Given the description of an element on the screen output the (x, y) to click on. 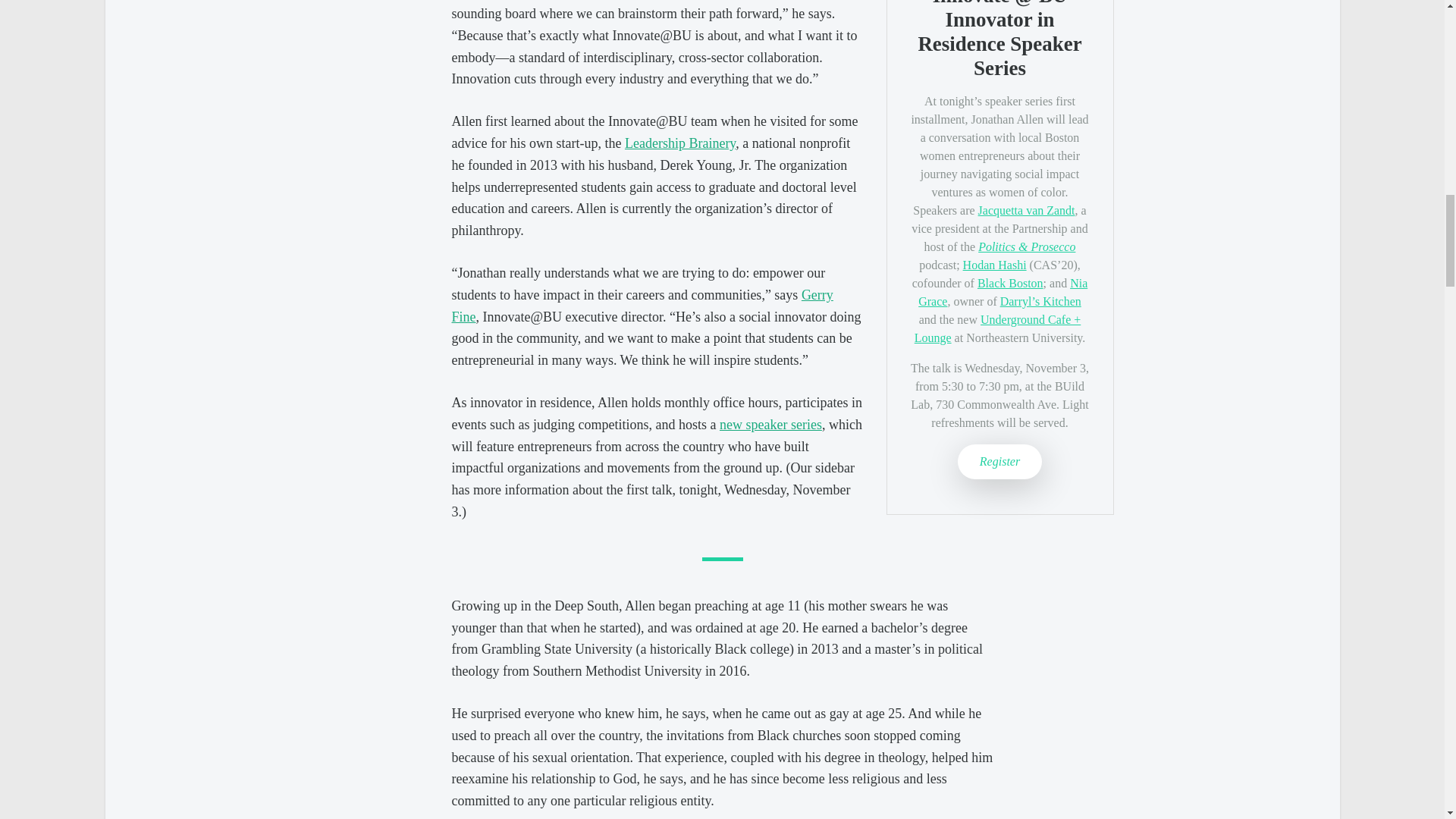
Register (1000, 461)
Leadership Brainery (679, 142)
Hodan Hashi (994, 264)
Gerry Fine (641, 305)
Black Boston (1009, 282)
new speaker series (770, 424)
Nia Grace (1002, 291)
Jacquetta van Zandt (1026, 210)
